Given the description of an element on the screen output the (x, y) to click on. 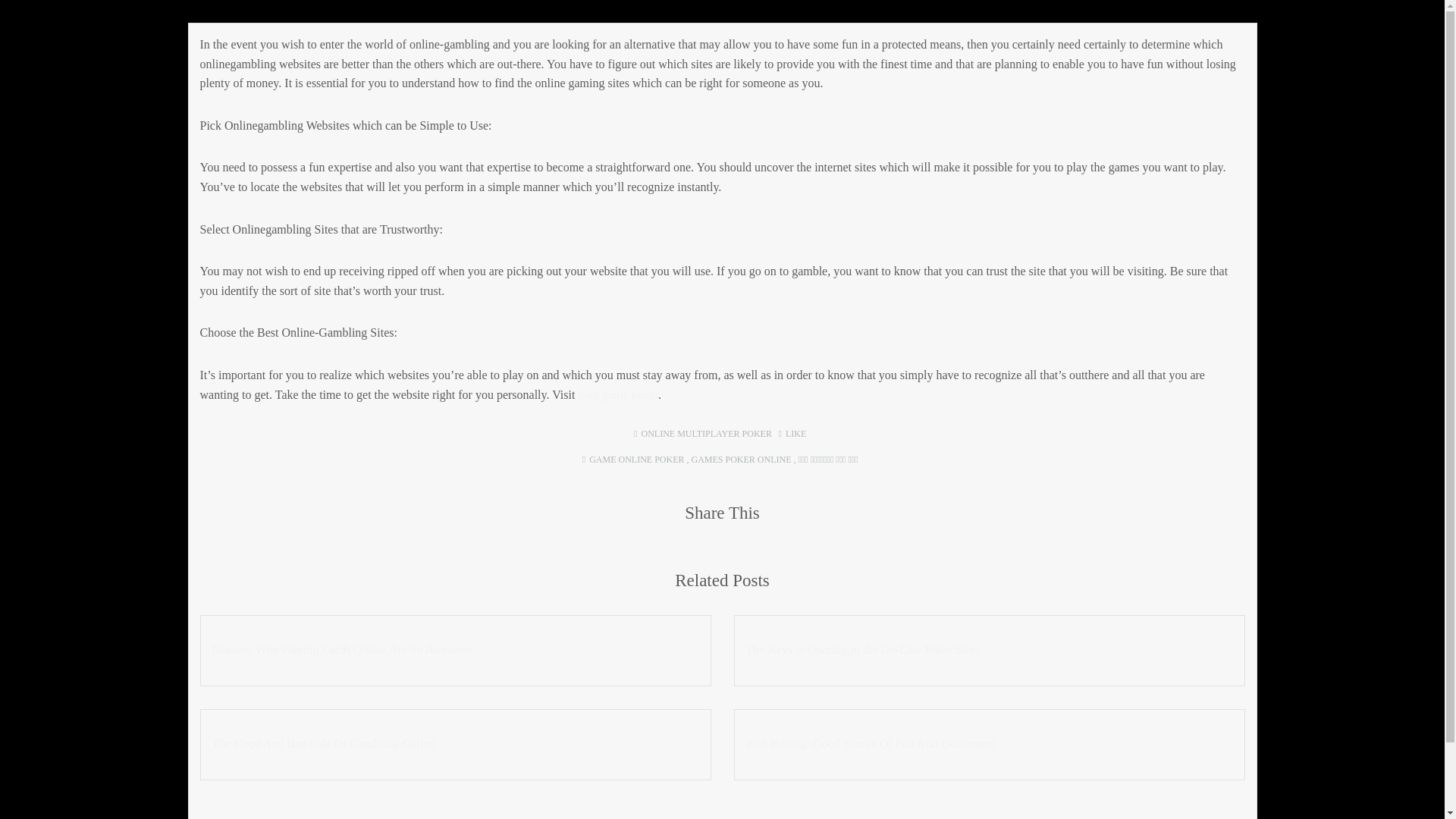
GAMES POKER ONLINE (740, 459)
Web Betting: Good Source Of Fun And Excitement (989, 743)
The Keys to Owning in the On-Line Poker Sites (989, 649)
Reasons Why Playing Cards Online Are So Awesome (455, 649)
Reasons Why Playing Cards Online Are So Awesome (455, 649)
The Good And Bad Side Of Gambling Online (455, 743)
GAME ONLINE POKER (636, 459)
play game poker (618, 394)
 LIKE (792, 433)
Web Betting: Good Source Of Fun And Excitement (989, 743)
ONLINE MULTIPLAYER POKER (706, 433)
The Good And Bad Side Of Gambling Online (455, 743)
The Keys to Owning in the On-Line Poker Sites (989, 649)
Like (792, 433)
